Given the description of an element on the screen output the (x, y) to click on. 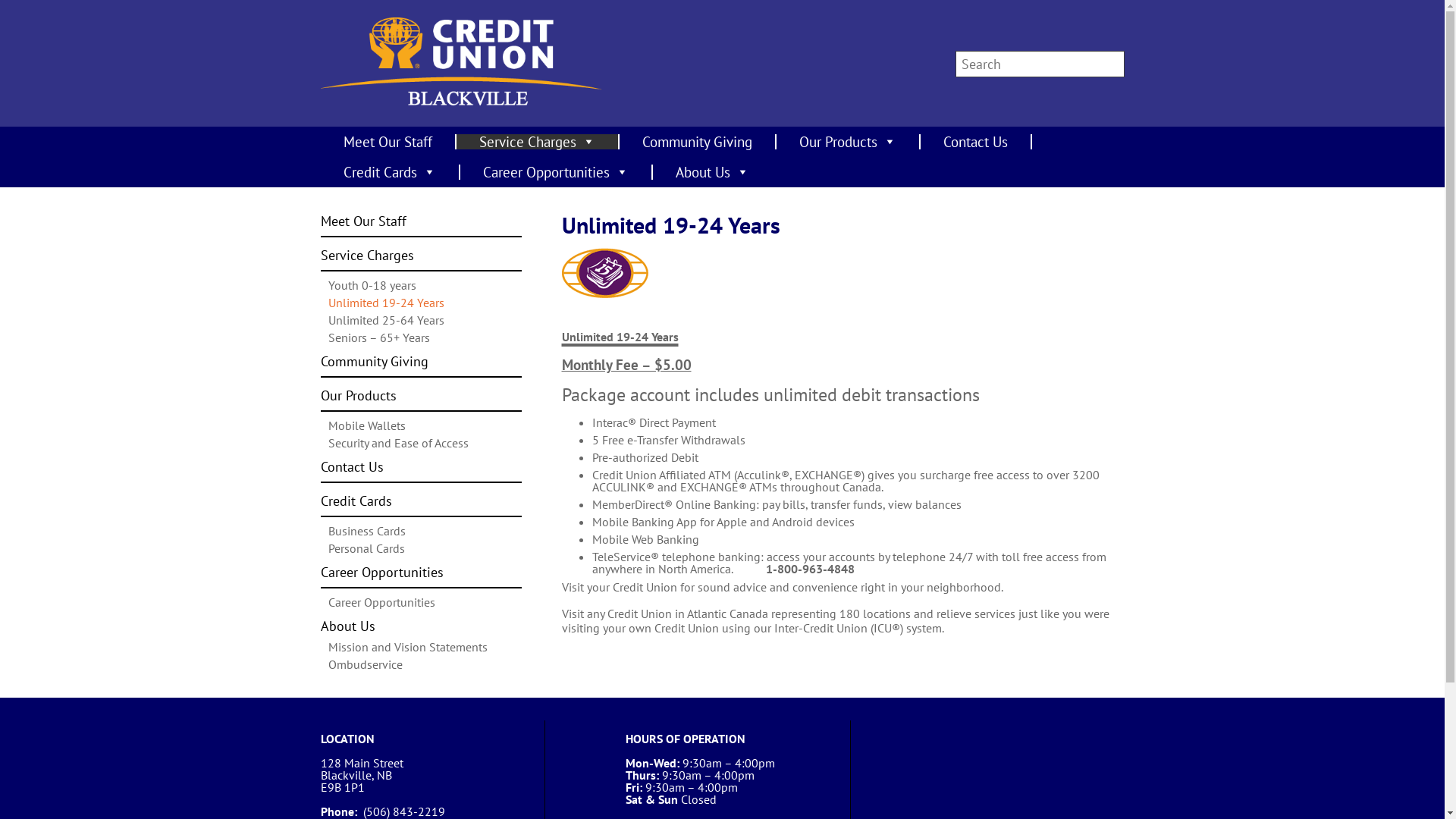
Career Opportunities Element type: text (420, 576)
About Us Element type: text (420, 629)
Meet Our Staff Element type: text (387, 141)
Unlimited 25-64 Years Element type: text (385, 319)
Service Charges Element type: text (420, 259)
Security and Ease of Access Element type: text (397, 442)
Ombudservice Element type: text (364, 663)
Community Giving Element type: text (420, 365)
Personal Cards Element type: text (365, 547)
Mission and Vision Statements Element type: text (406, 646)
Unlimited 19-24 Years Element type: text (385, 302)
Contact Us Element type: text (420, 471)
About Us Element type: text (711, 171)
Contact Us Element type: text (976, 141)
Meet Our Staff Element type: text (420, 225)
Career Opportunities Element type: text (380, 601)
Mobile Wallets Element type: text (365, 425)
Career Opportunities Element type: text (555, 171)
Credit Cards Element type: text (420, 505)
Community Giving Element type: text (696, 141)
Our Products Element type: text (420, 400)
Youth 0-18 years Element type: text (371, 284)
Business Cards Element type: text (365, 530)
Credit Cards Element type: text (389, 171)
Our Products Element type: text (848, 141)
Service Charges Element type: text (537, 141)
